Given the description of an element on the screen output the (x, y) to click on. 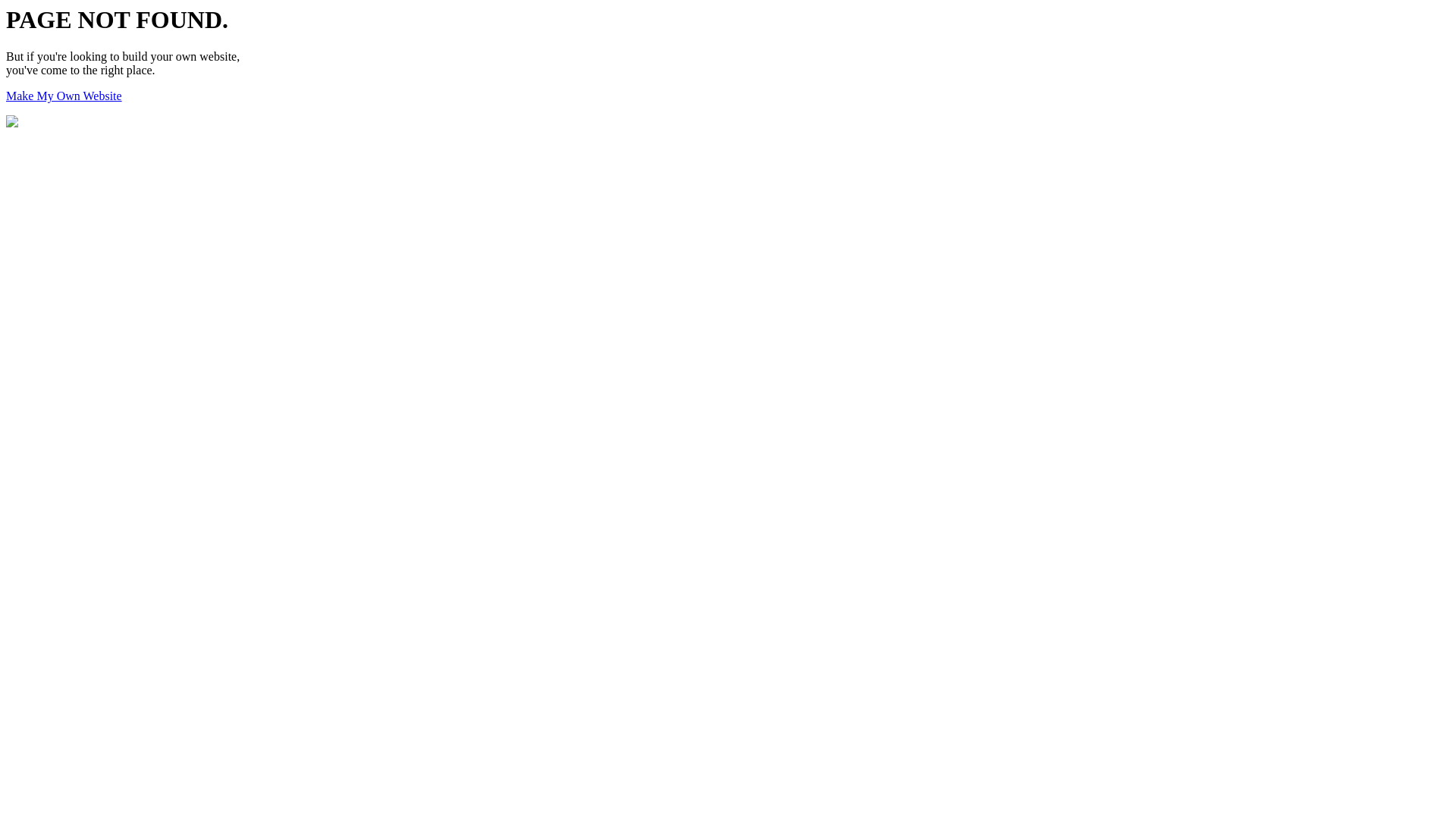
Make My Own Website Element type: text (64, 95)
